Given the description of an element on the screen output the (x, y) to click on. 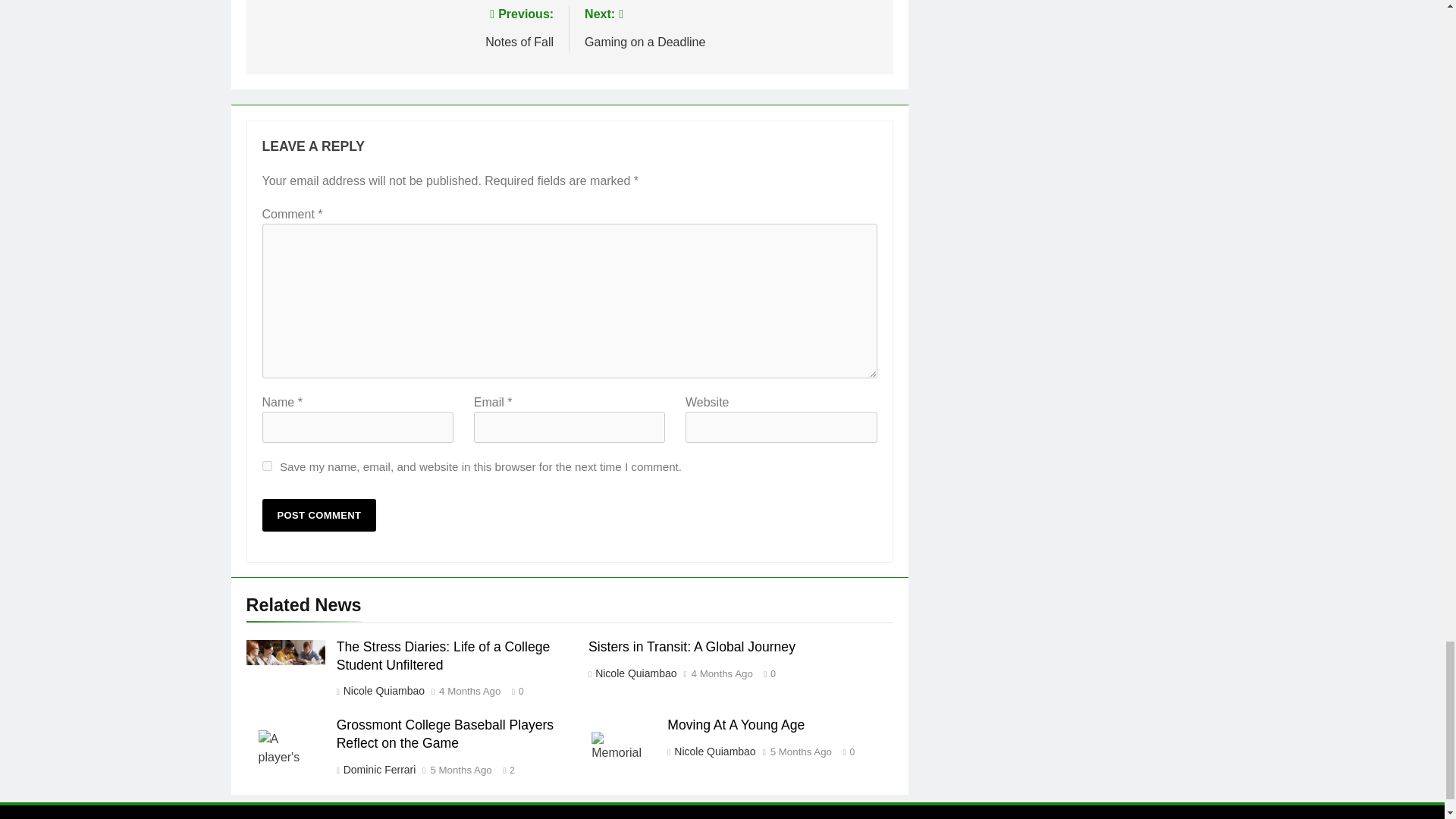
yes (406, 26)
Post Comment (267, 465)
Post Comment (319, 514)
Nicole Quiambao (319, 514)
The Stress Diaries: Life of a College Student Unfiltered (382, 690)
